Given the description of an element on the screen output the (x, y) to click on. 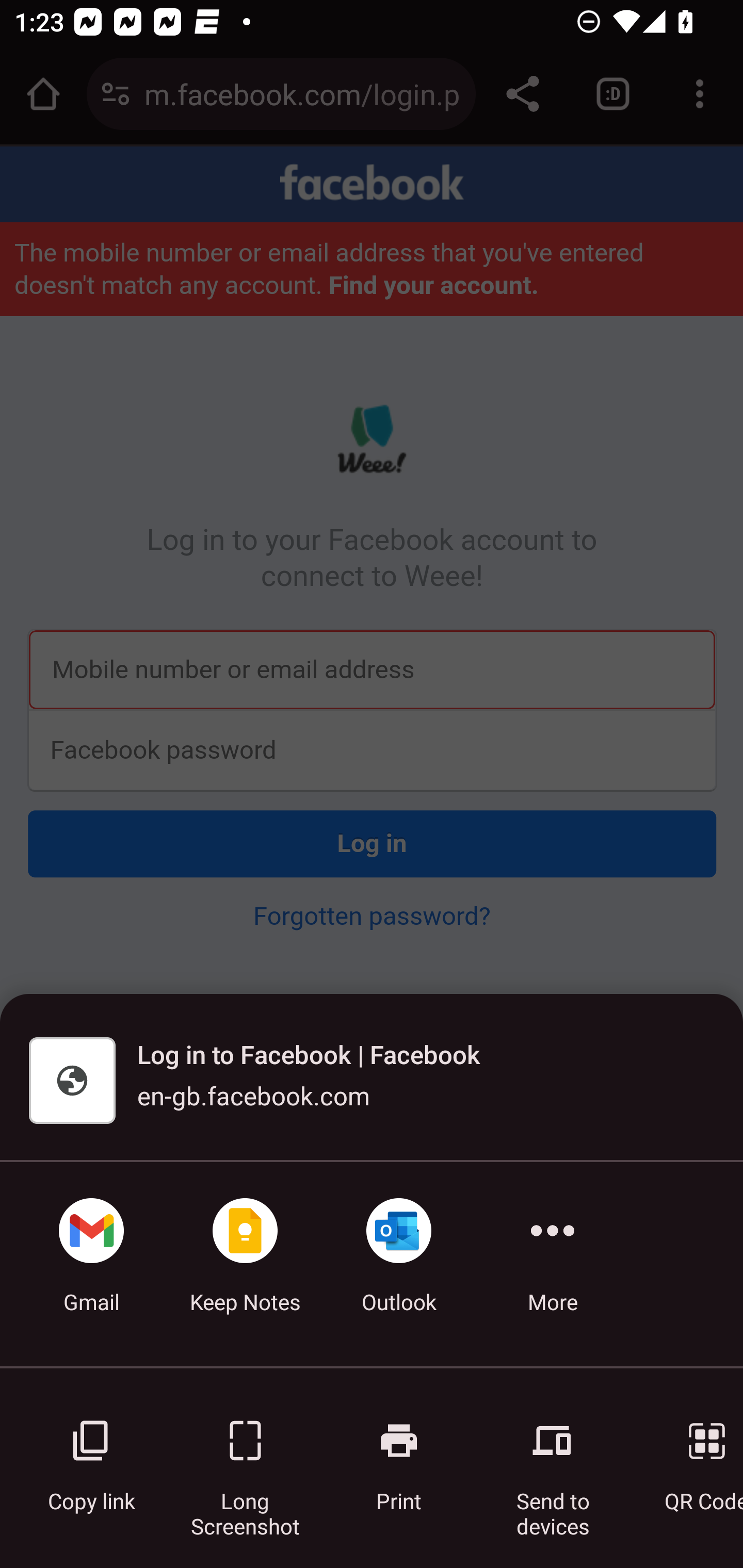
Gmail (90, 1263)
Keep Notes (244, 1263)
Outlook (398, 1263)
More (552, 1263)
Copy link (90, 1454)
Long Screenshot (244, 1454)
Print (398, 1454)
Send to devices (552, 1454)
QR Code (693, 1454)
